Given the description of an element on the screen output the (x, y) to click on. 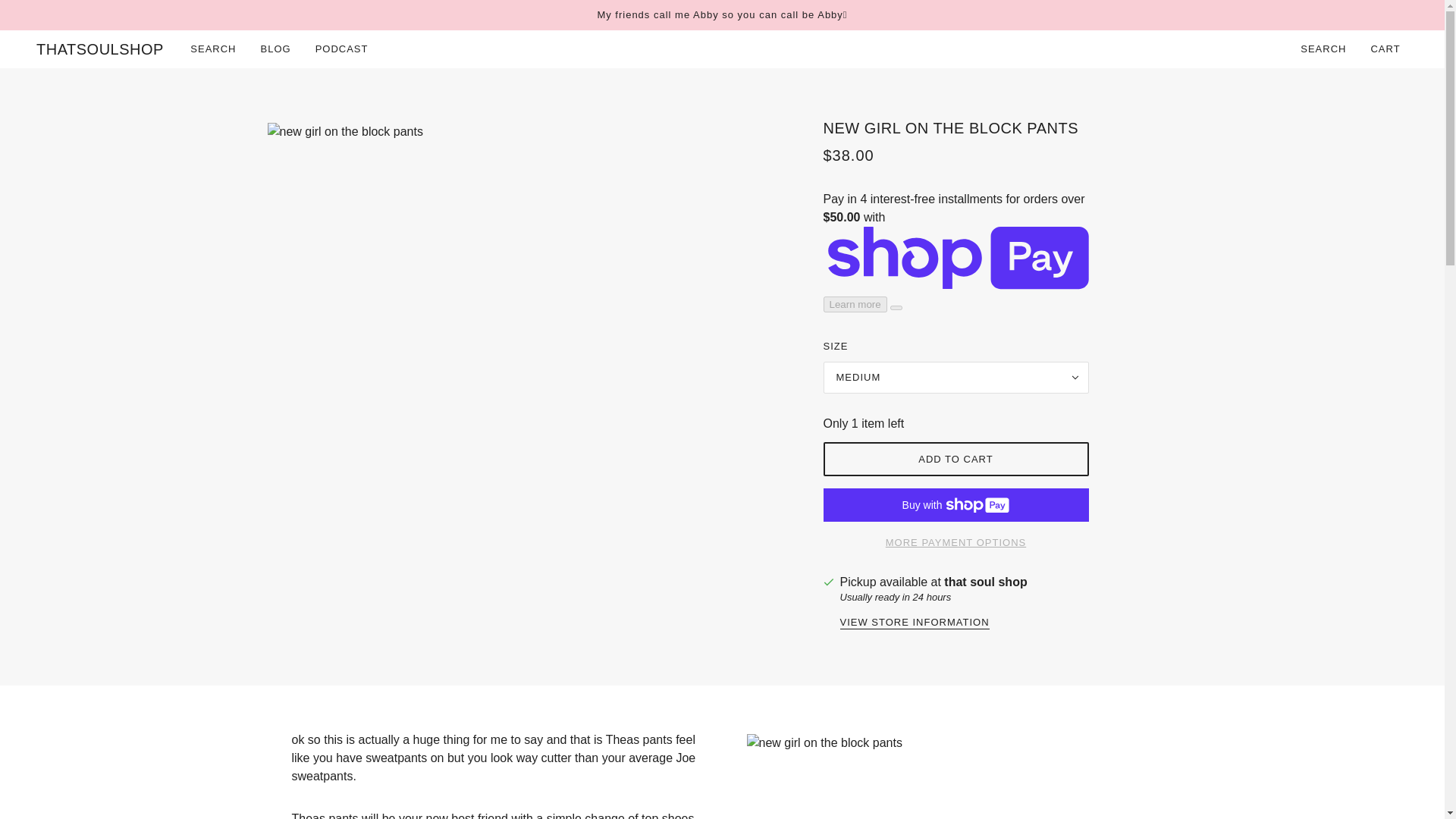
NEW GIRL ON THE BLOCK PANTS (956, 128)
that soul shop (984, 582)
THATSOULSHOP (99, 48)
ADD TO CART (956, 458)
thatsoulshop (99, 48)
MORE PAYMENT OPTIONS (956, 536)
CART  (1386, 48)
SEARCH (212, 48)
VIEW STORE INFORMATION (915, 623)
BLOG (275, 48)
PODCAST (341, 48)
SEARCH (1323, 48)
